Given the description of an element on the screen output the (x, y) to click on. 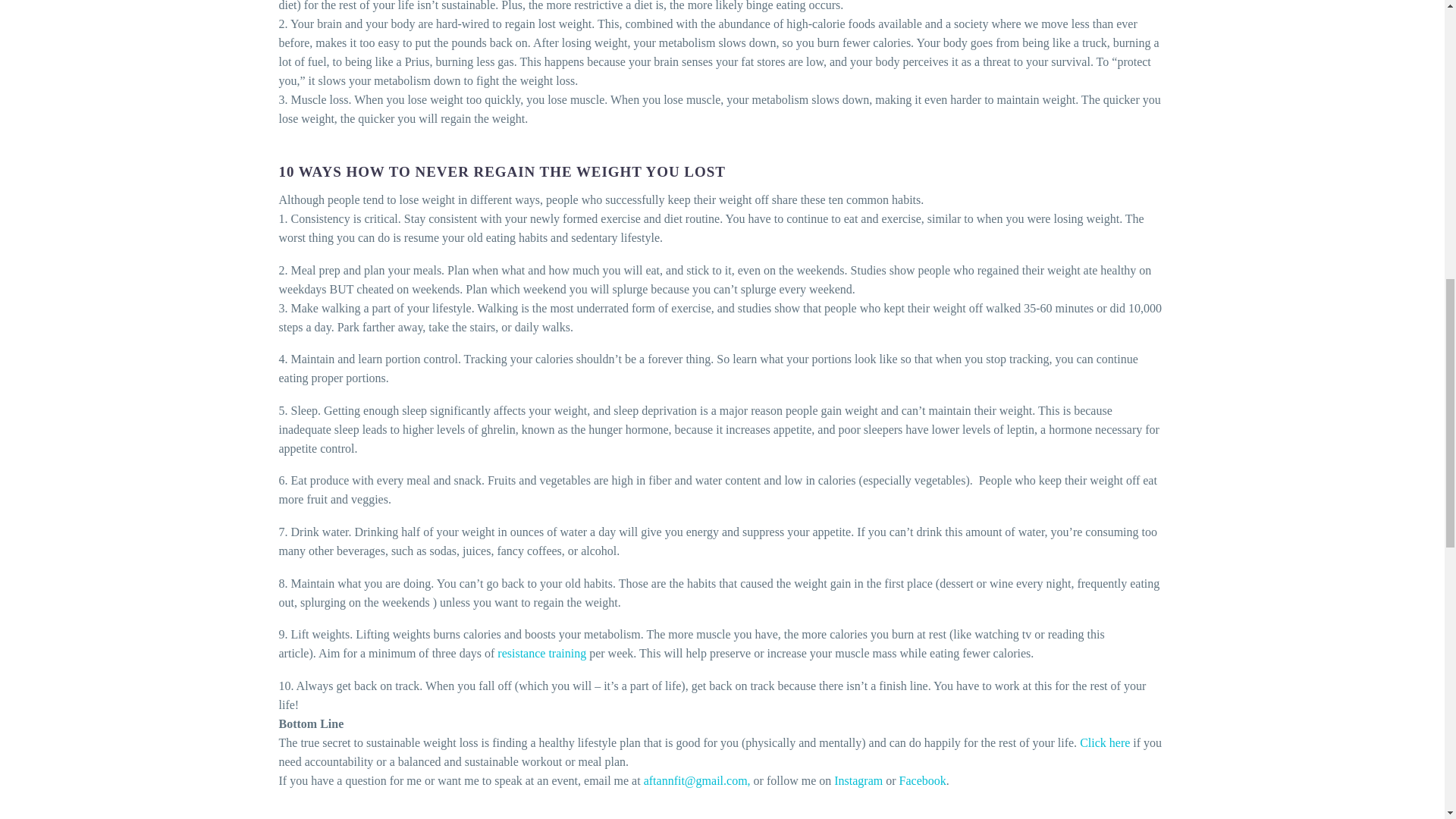
Facebook (922, 780)
Instagram (858, 780)
resistance training (541, 653)
Click here (1104, 742)
